Given the description of an element on the screen output the (x, y) to click on. 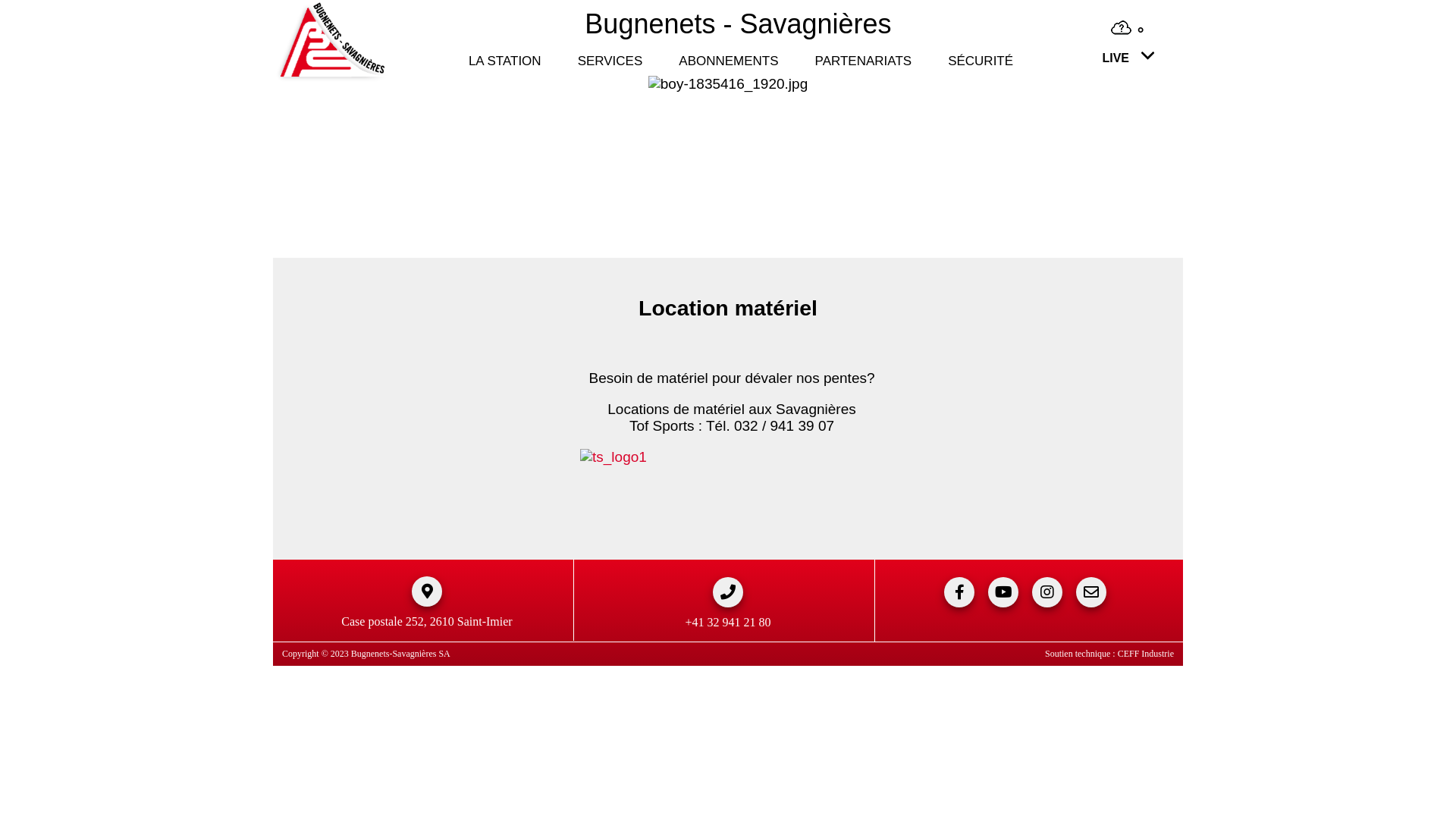
CEFF Industrie Element type: text (1145, 653)
